Given the description of an element on the screen output the (x, y) to click on. 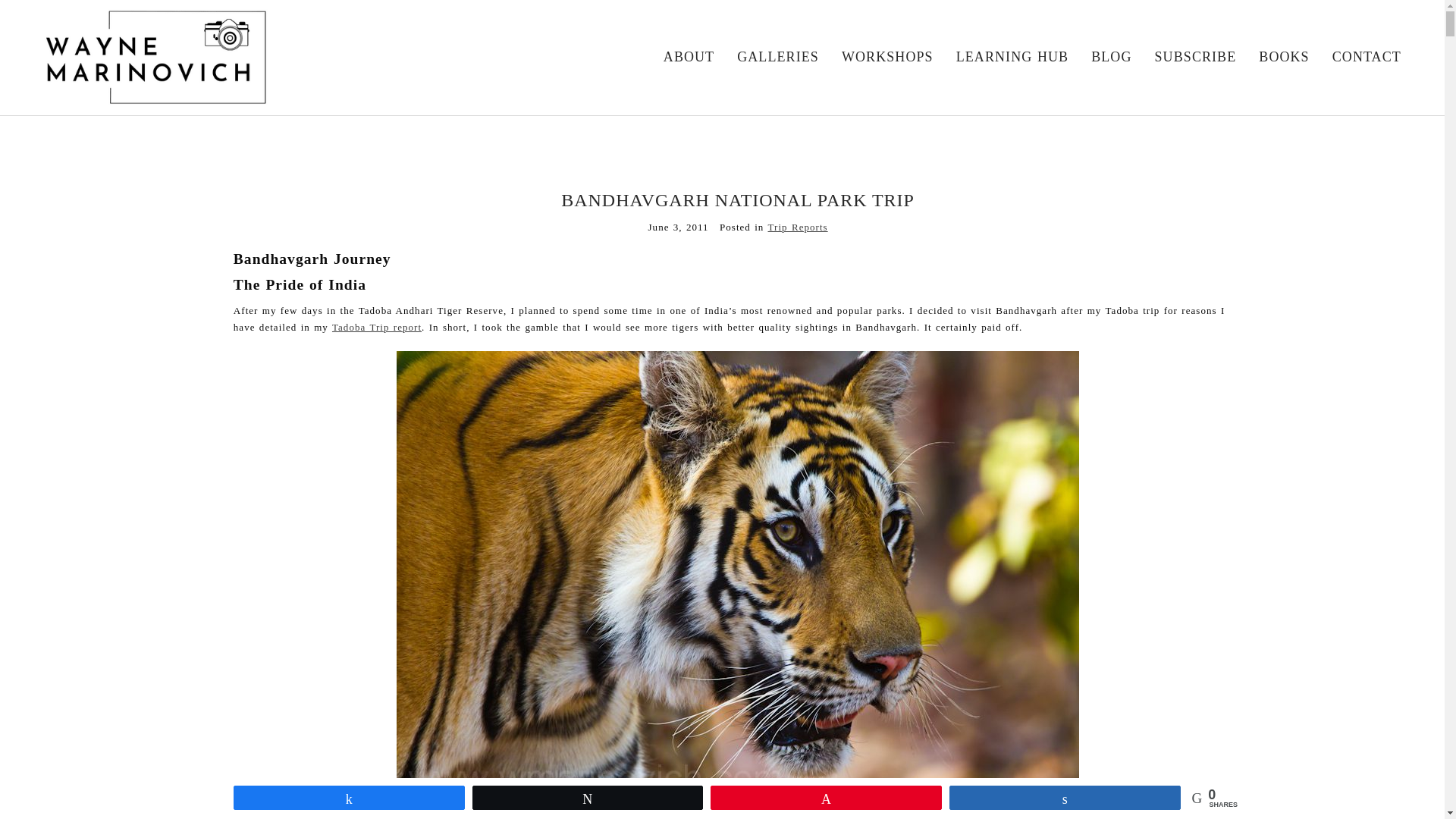
GALLERIES (777, 56)
SUBSCRIBE (1195, 56)
WORKSHOPS (887, 56)
LEARNING HUB (1012, 56)
Trip Reports (797, 226)
ABOUT (688, 56)
BOOKS (1283, 56)
Tadoba Trip report (376, 326)
CONTACT (1366, 56)
BLOG (1110, 56)
